Given the description of an element on the screen output the (x, y) to click on. 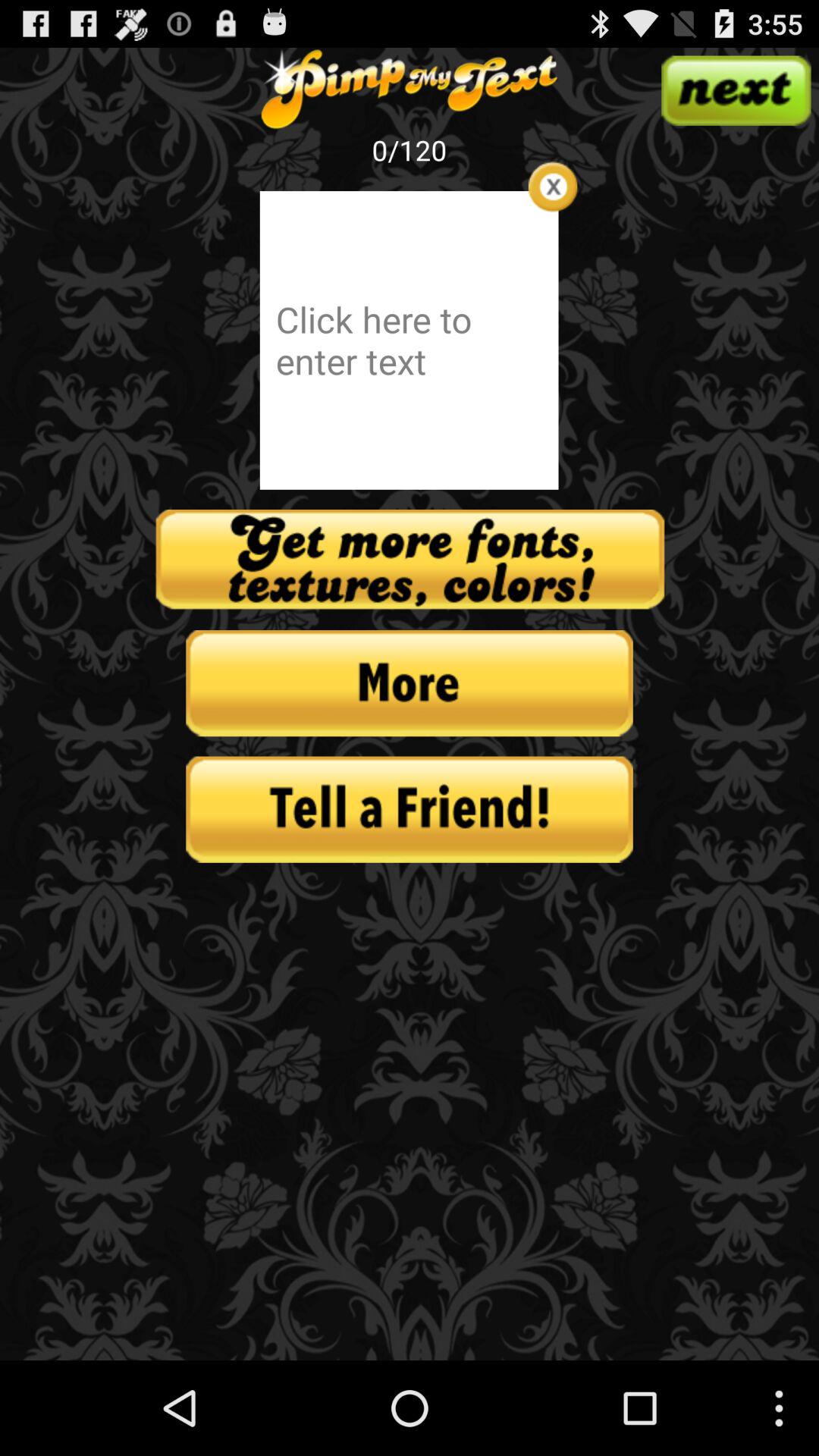
share with a friend (409, 809)
